Given the description of an element on the screen output the (x, y) to click on. 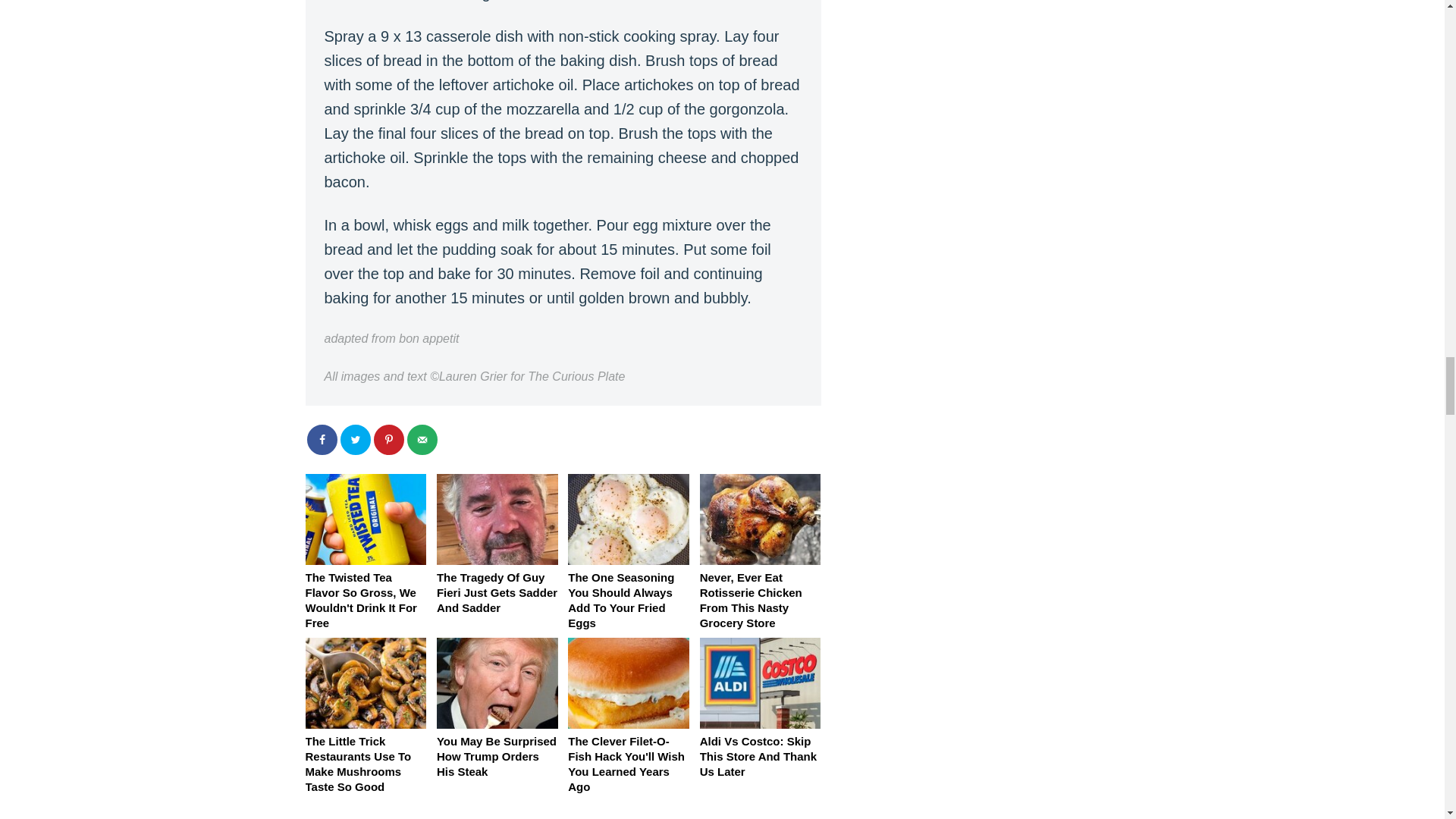
Save to Pinterest (387, 440)
Share on Twitter (354, 440)
Share on Facebook (320, 440)
Send over email (421, 440)
